Given the description of an element on the screen output the (x, y) to click on. 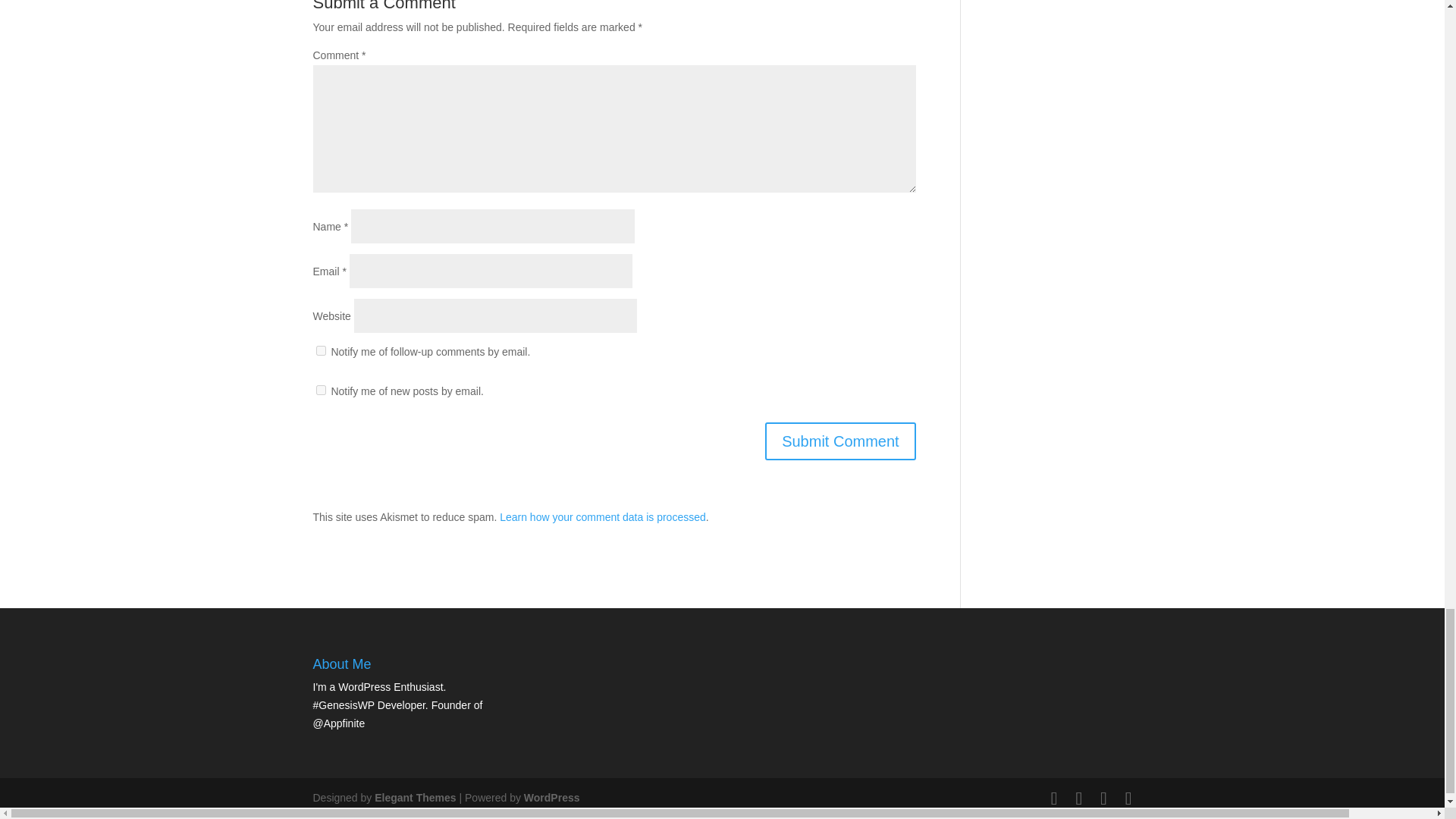
Elegant Themes (414, 797)
Premium WordPress Themes (414, 797)
WordPress (551, 797)
Learn how your comment data is processed (602, 517)
subscribe (319, 350)
subscribe (319, 389)
Submit Comment (840, 441)
Submit Comment (840, 441)
